Given the description of an element on the screen output the (x, y) to click on. 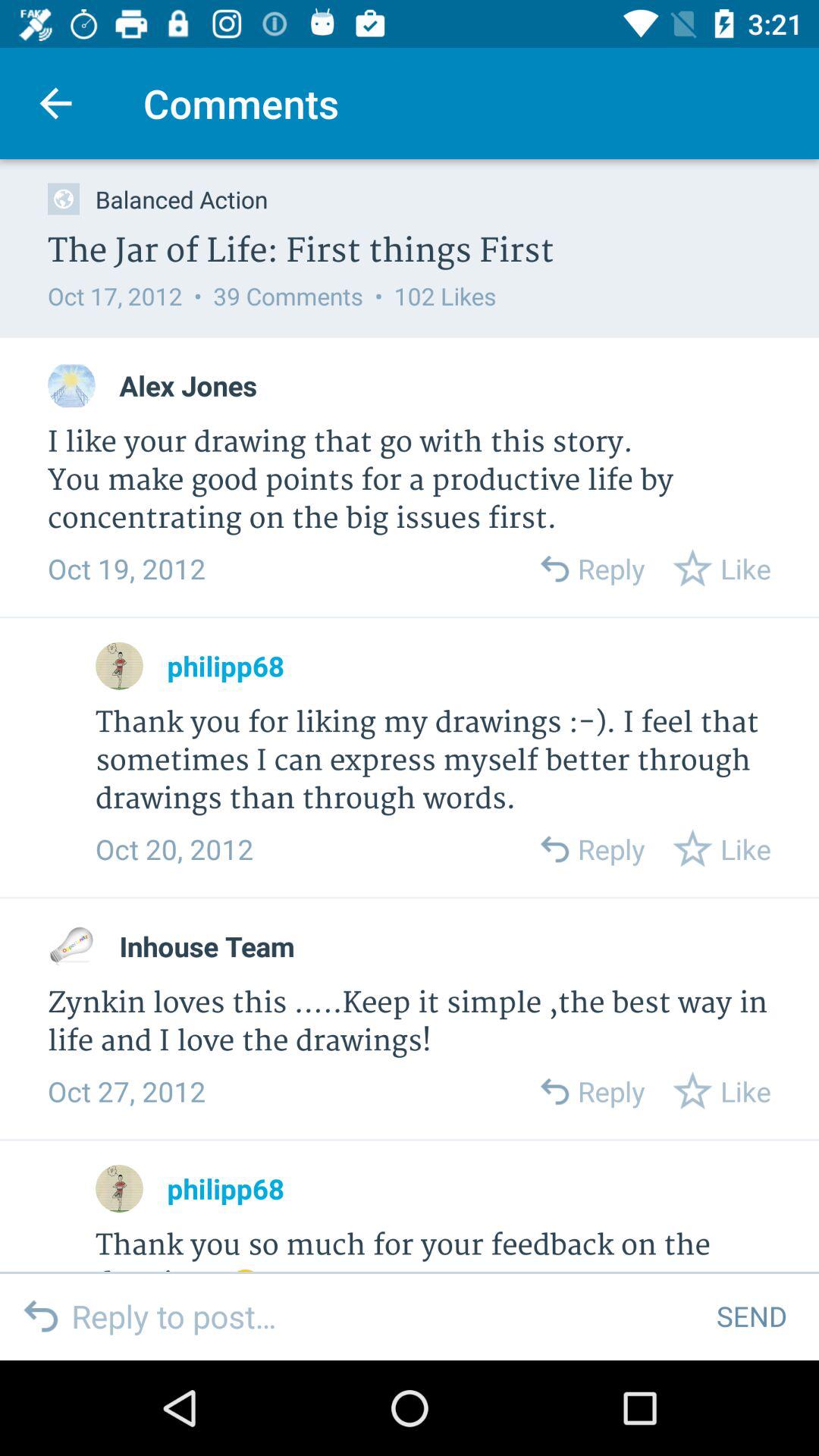
turn off the icon above zynkin loves this item (206, 946)
